Given the description of an element on the screen output the (x, y) to click on. 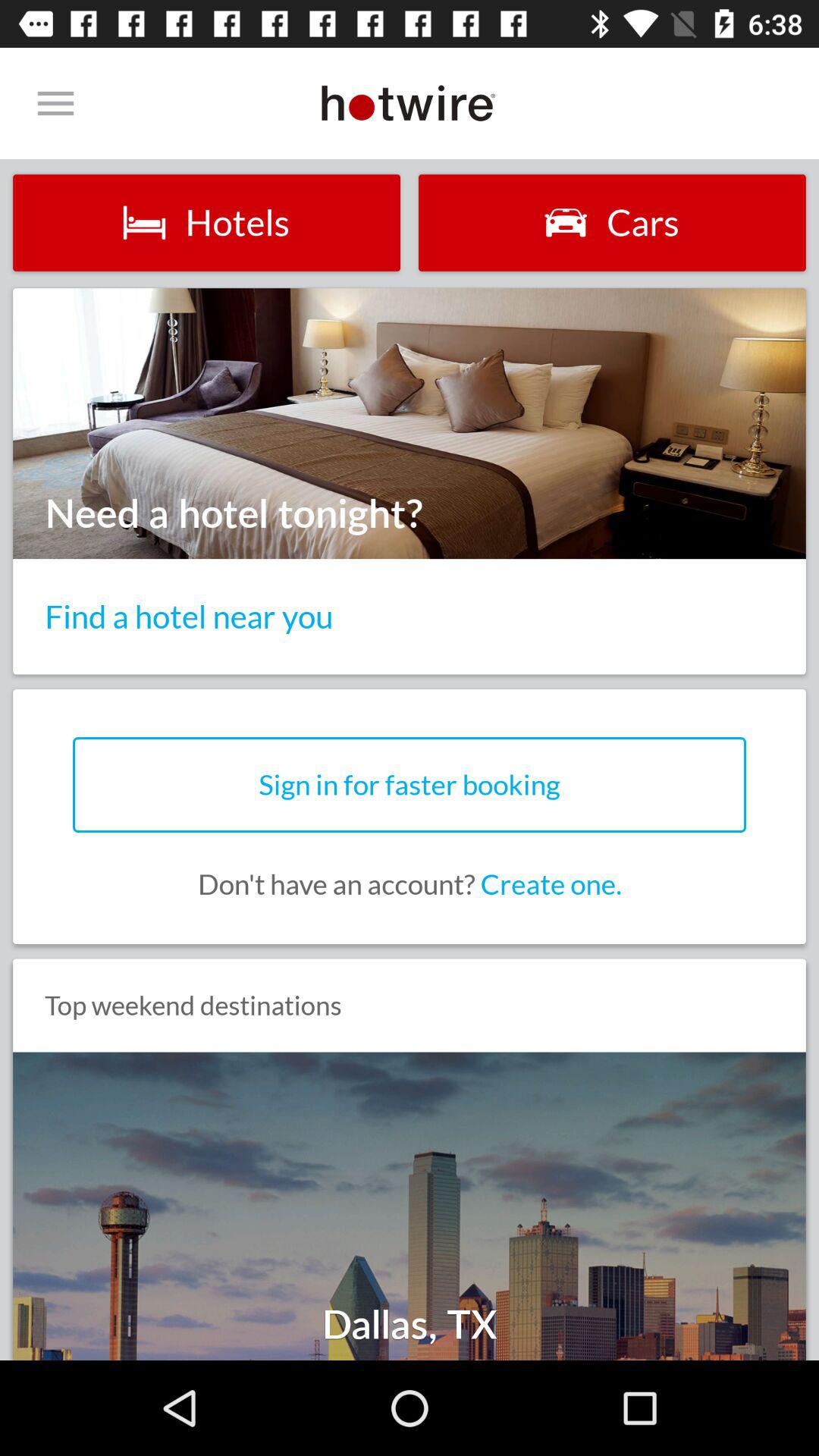
turn off the sign in for icon (409, 784)
